Given the description of an element on the screen output the (x, y) to click on. 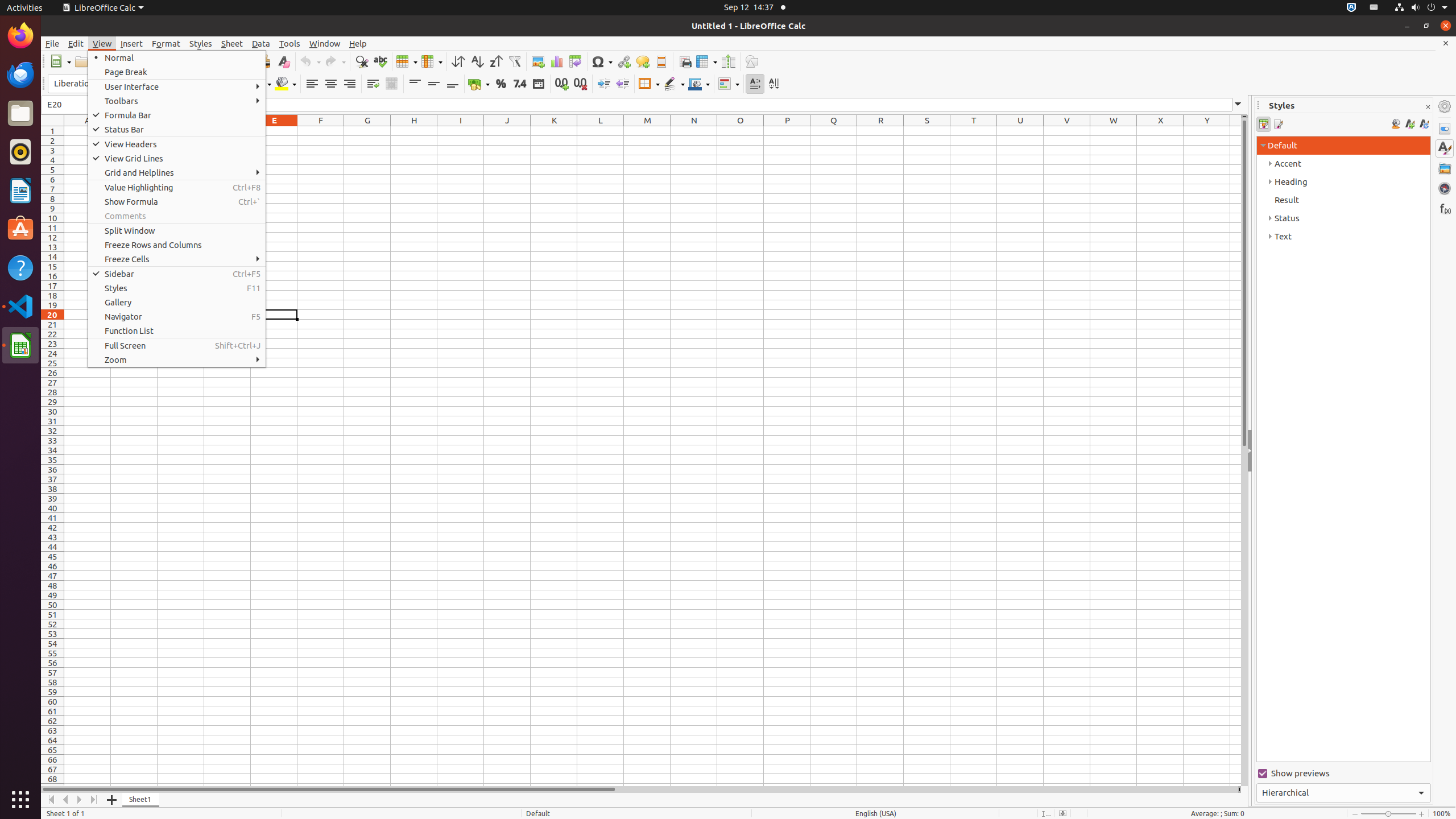
Draw Functions Element type: toggle-button (751, 61)
Pivot Table Element type: push-button (574, 61)
Function List Element type: check-menu-item (176, 330)
Delete Decimal Place Element type: push-button (580, 83)
M1 Element type: table-cell (646, 130)
